Given the description of an element on the screen output the (x, y) to click on. 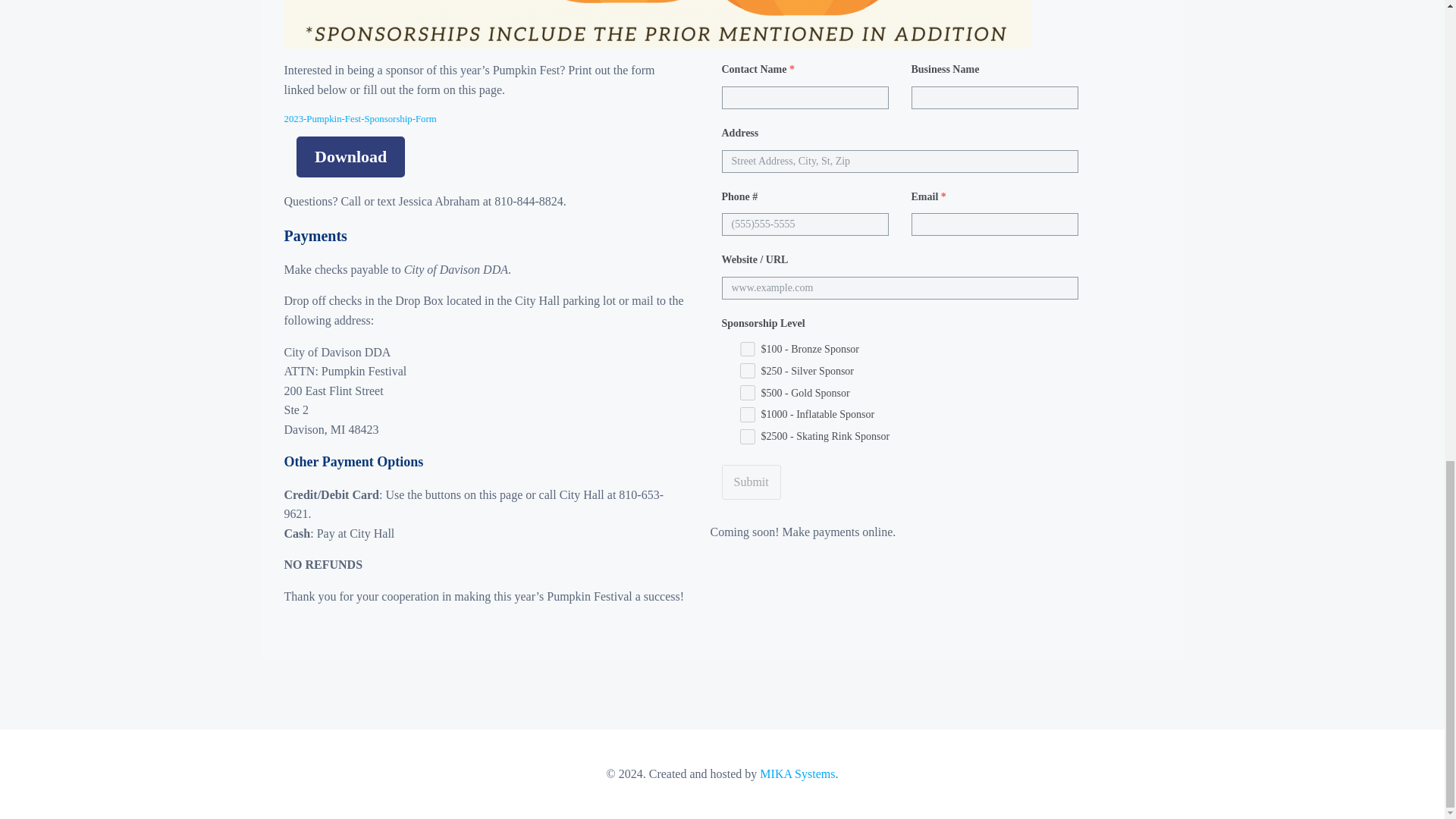
MIKA Systems (797, 773)
Download (350, 156)
2023-Pumpkin-Fest-Sponsorship-Form (359, 118)
Submit (751, 482)
